Given the description of an element on the screen output the (x, y) to click on. 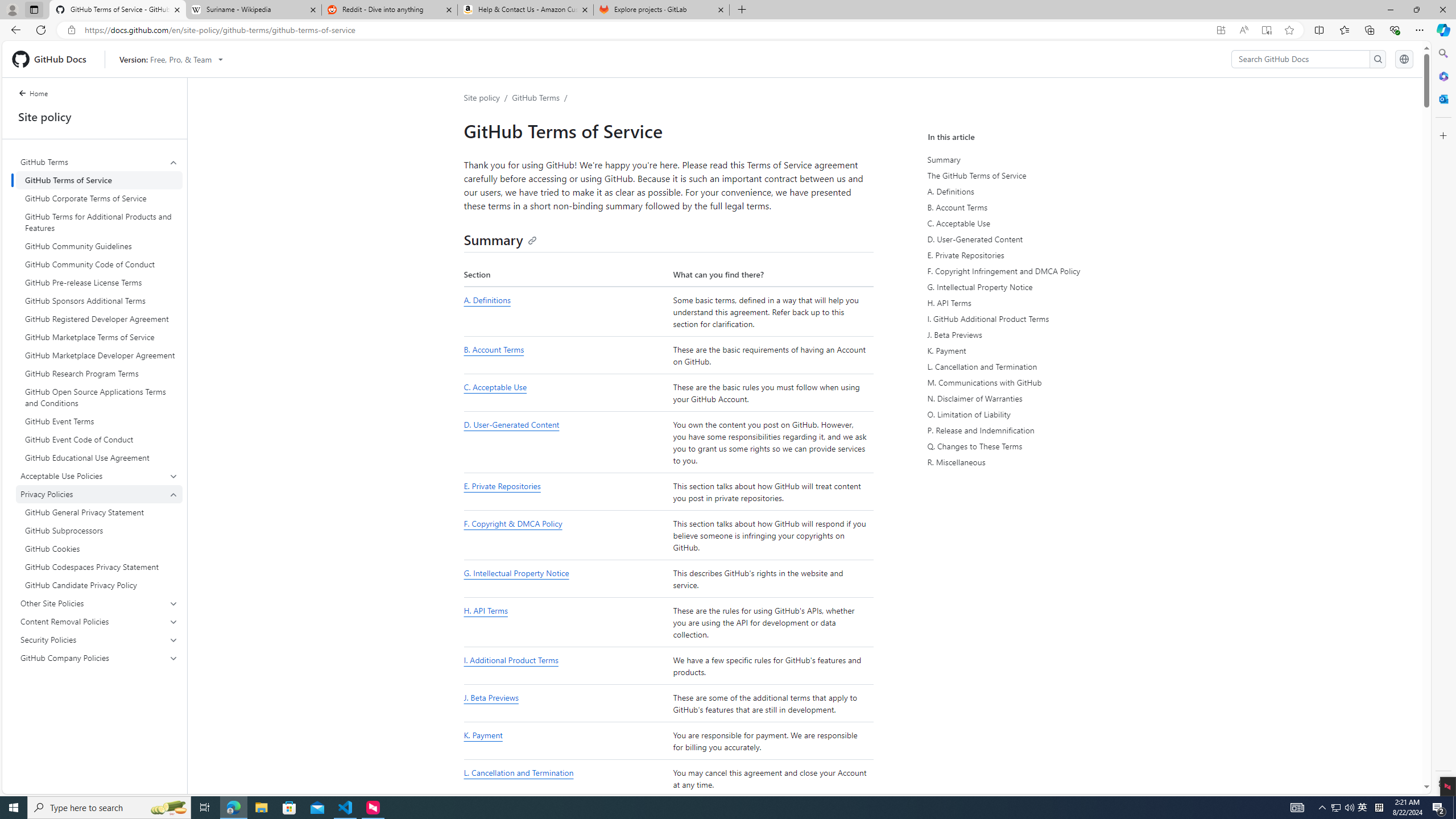
GitHub Sponsors Additional Terms (99, 300)
GitHub Pre-release License Terms (99, 282)
Privacy Policies (99, 539)
A. Definitions (565, 312)
K. Payment (565, 741)
P. Release and Indemnification (1034, 430)
GitHub Educational Use Agreement (99, 457)
D. User-Generated Content (565, 442)
Q. Changes to These Terms (1034, 446)
GitHub Marketplace Terms of Service (99, 337)
Summary (500, 239)
GitHub Terms (99, 309)
GitHub Sponsors Additional Terms (99, 300)
GitHub Registered Developer Agreement (99, 318)
GitHub Codespaces Privacy Statement (99, 566)
